Given the description of an element on the screen output the (x, y) to click on. 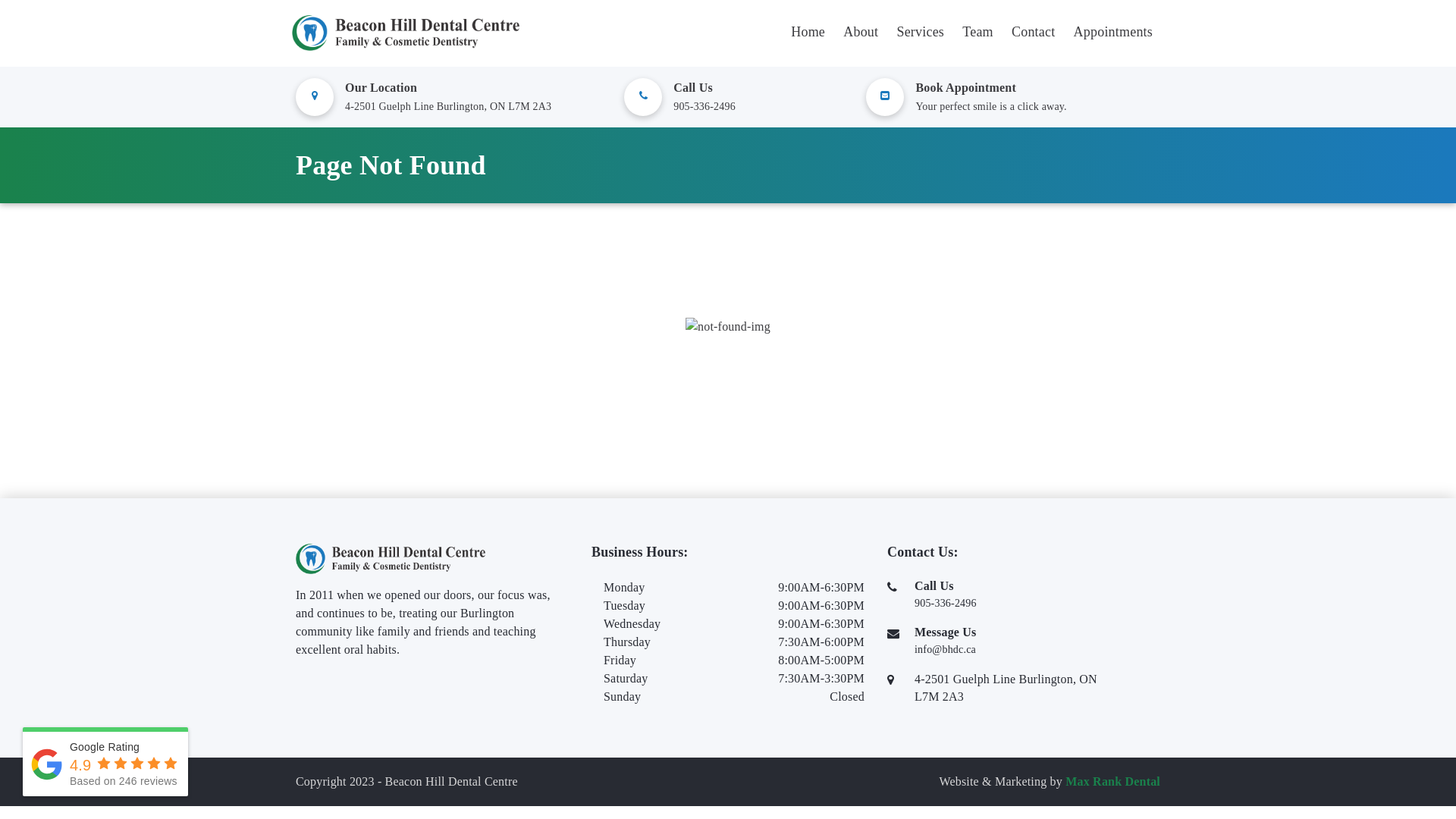
Services Element type: text (919, 32)
Contact Element type: text (1033, 32)
905-336-2496 Element type: text (704, 106)
Max Rank Dental Element type: text (1112, 781)
Appointments Element type: text (1113, 32)
Team Element type: text (977, 32)
About Element type: text (860, 32)
Your perfect smile is a click away. Element type: text (990, 106)
info@bhdc.ca Element type: text (944, 649)
4-2501 Guelph Line Burlington, ON L7M 2A3 Element type: text (448, 106)
905-336-2496 Element type: text (945, 603)
Call Us Element type: text (692, 87)
Our Location Element type: text (381, 87)
Home Element type: text (807, 32)
Book Appointment Element type: text (965, 87)
